Given the description of an element on the screen output the (x, y) to click on. 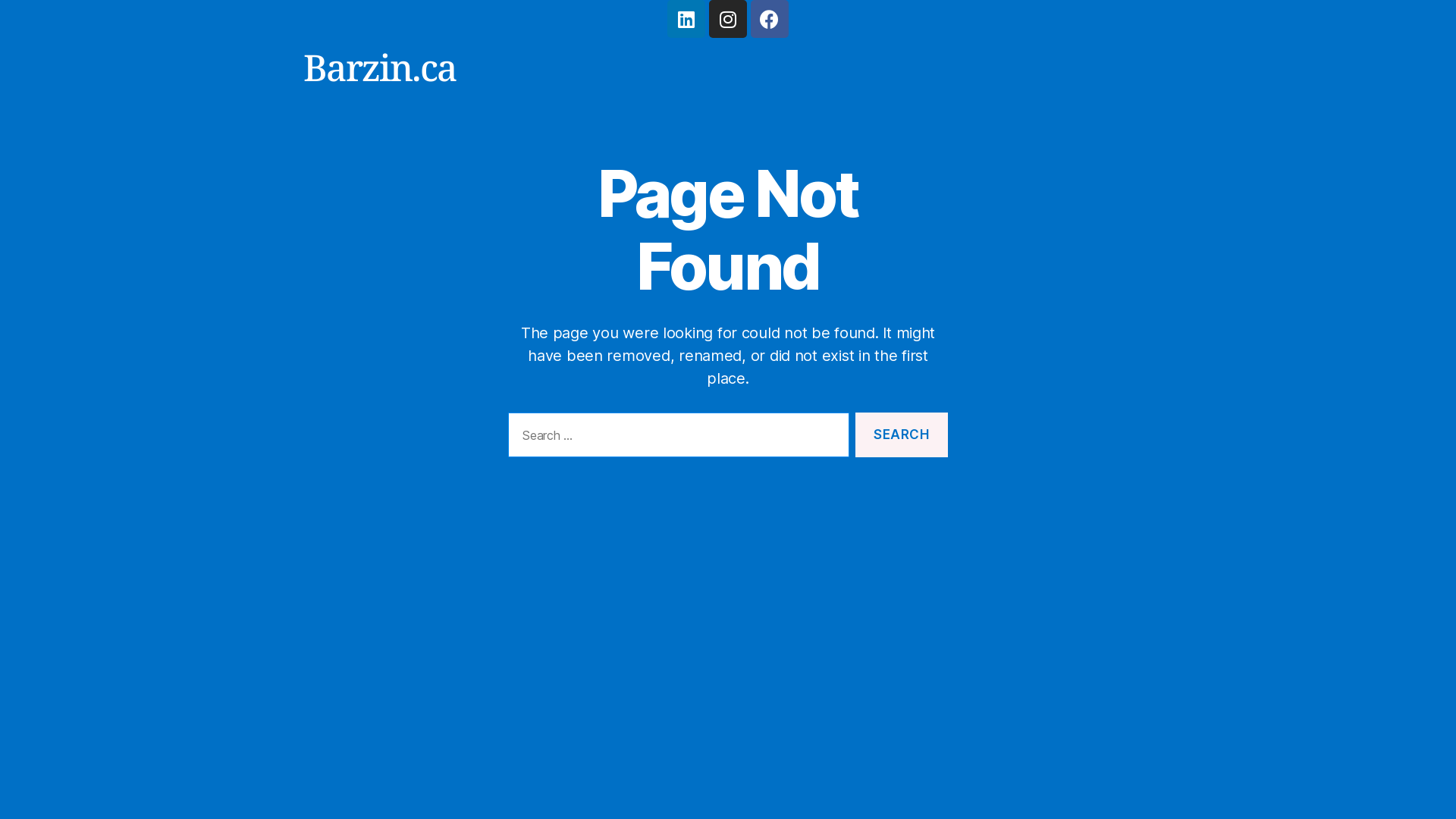
Barzin.ca Element type: text (379, 66)
Search Element type: text (901, 434)
